Given the description of an element on the screen output the (x, y) to click on. 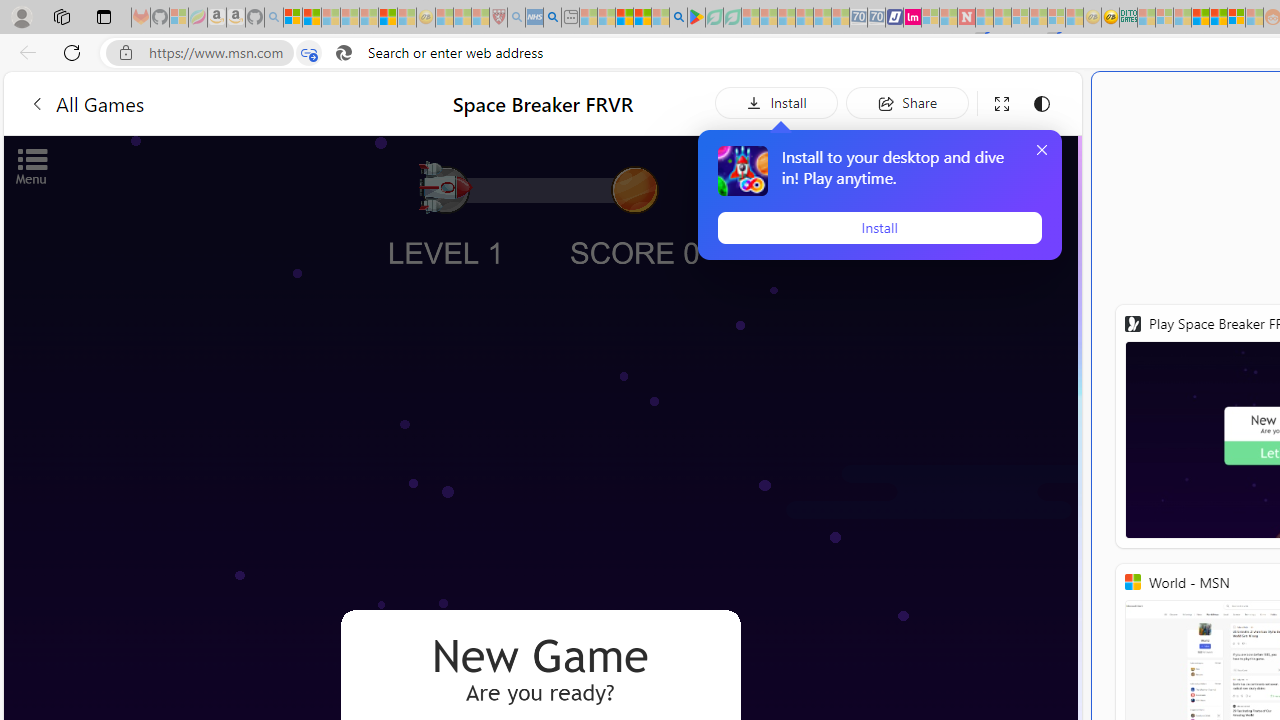
Search icon (343, 53)
14 Common Myths Debunked By Scientific Facts - Sleeping (1002, 17)
Kinda Frugal - MSN (1218, 17)
Tabs in split screen (308, 53)
Cheap Hotels - Save70.com - Sleeping (875, 17)
Bluey: Let's Play! - Apps on Google Play (696, 17)
The Weather Channel - MSN - Sleeping (331, 17)
